Given the description of an element on the screen output the (x, y) to click on. 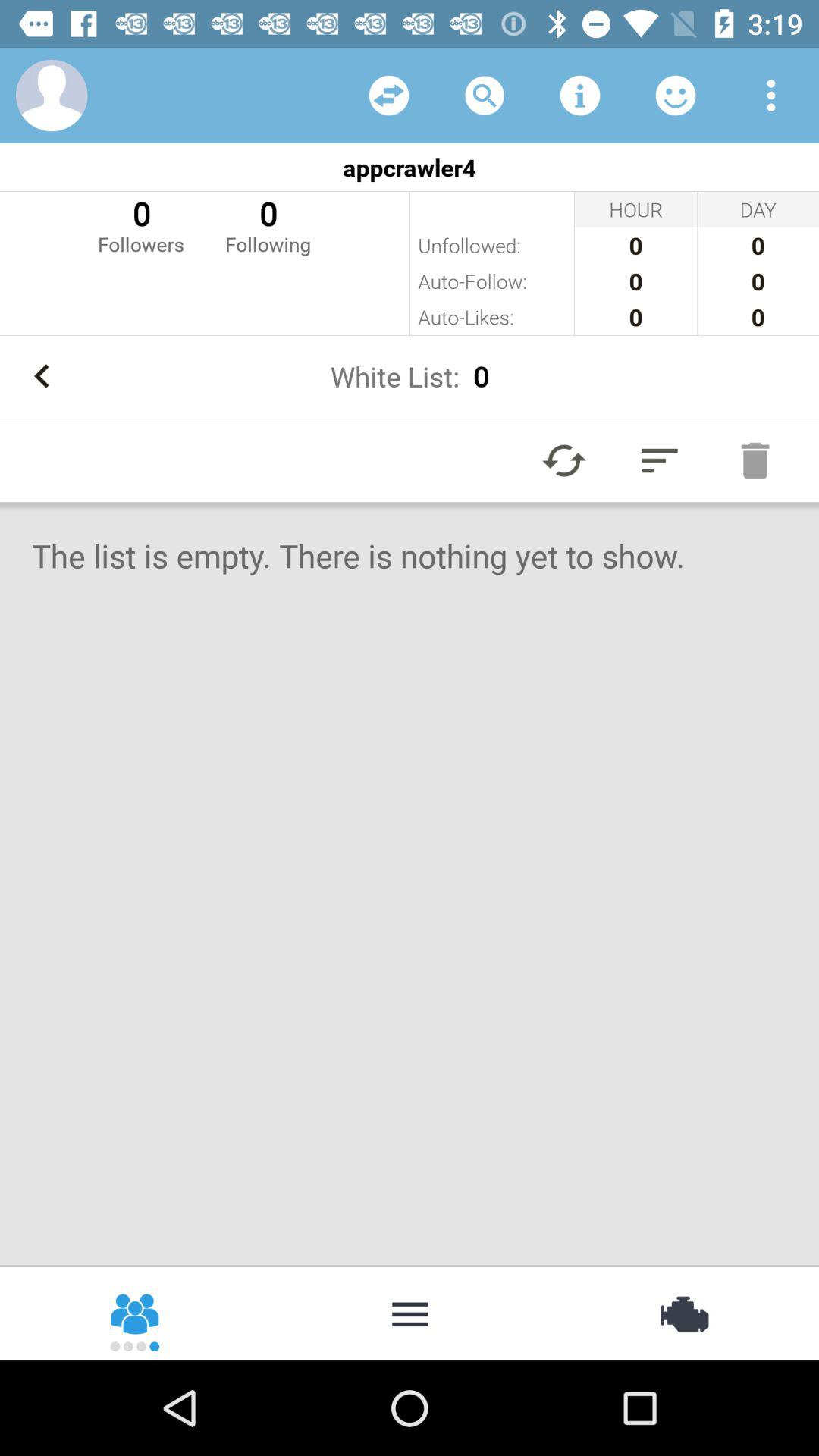
info button (579, 95)
